Given the description of an element on the screen output the (x, y) to click on. 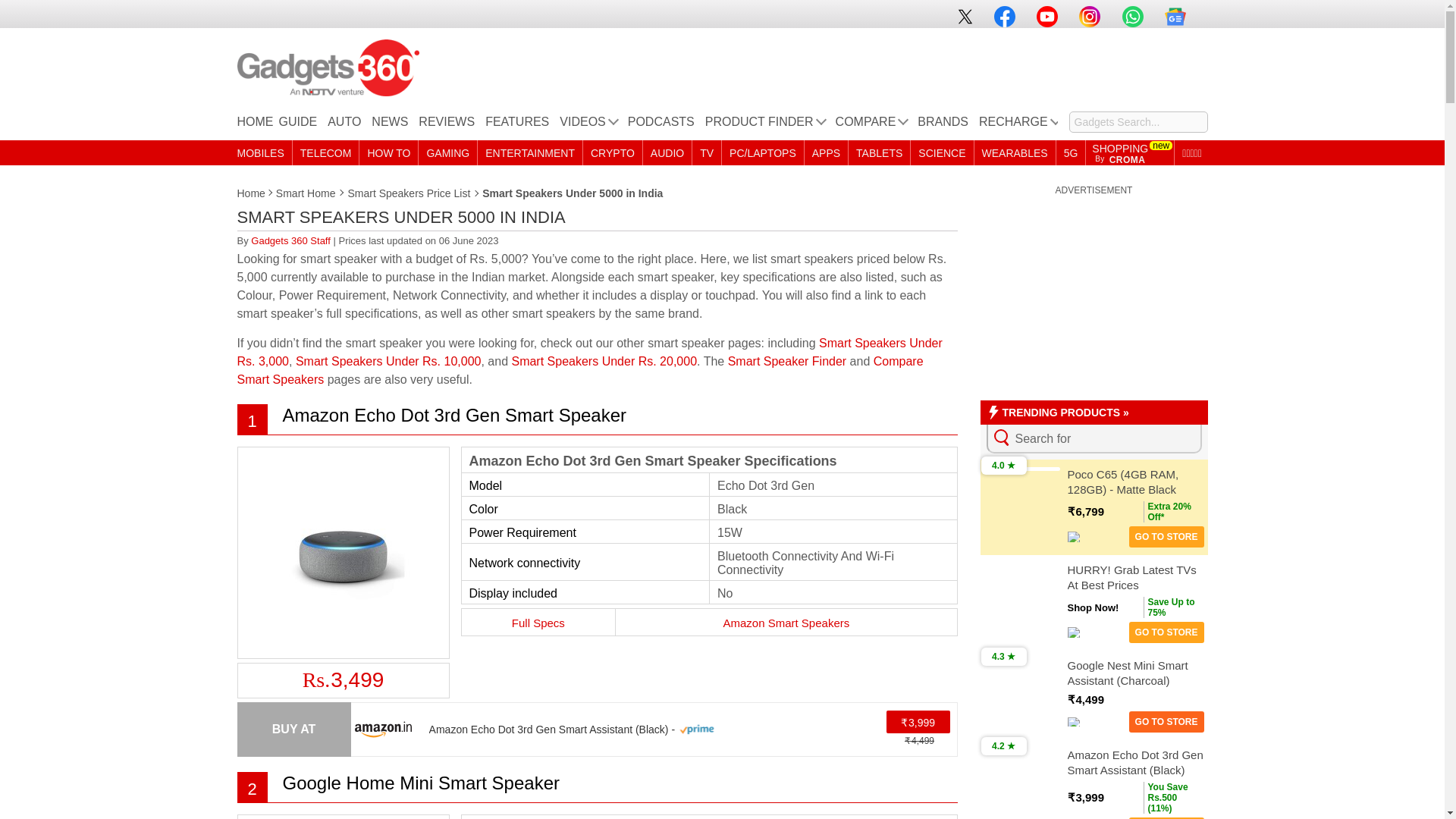
Gadgets 360 (327, 67)
HOME (254, 125)
VIDEOS (587, 125)
FEATURES (516, 125)
Home (250, 193)
AUTO (344, 125)
Amazon Echo Dot 3rd Gen Smart Speaker (454, 414)
Smart Speakers Price List (409, 193)
GUIDE (298, 125)
Amazon Echo Dot 3rd Gen Smart Speaker Full Specs (537, 622)
